Given the description of an element on the screen output the (x, y) to click on. 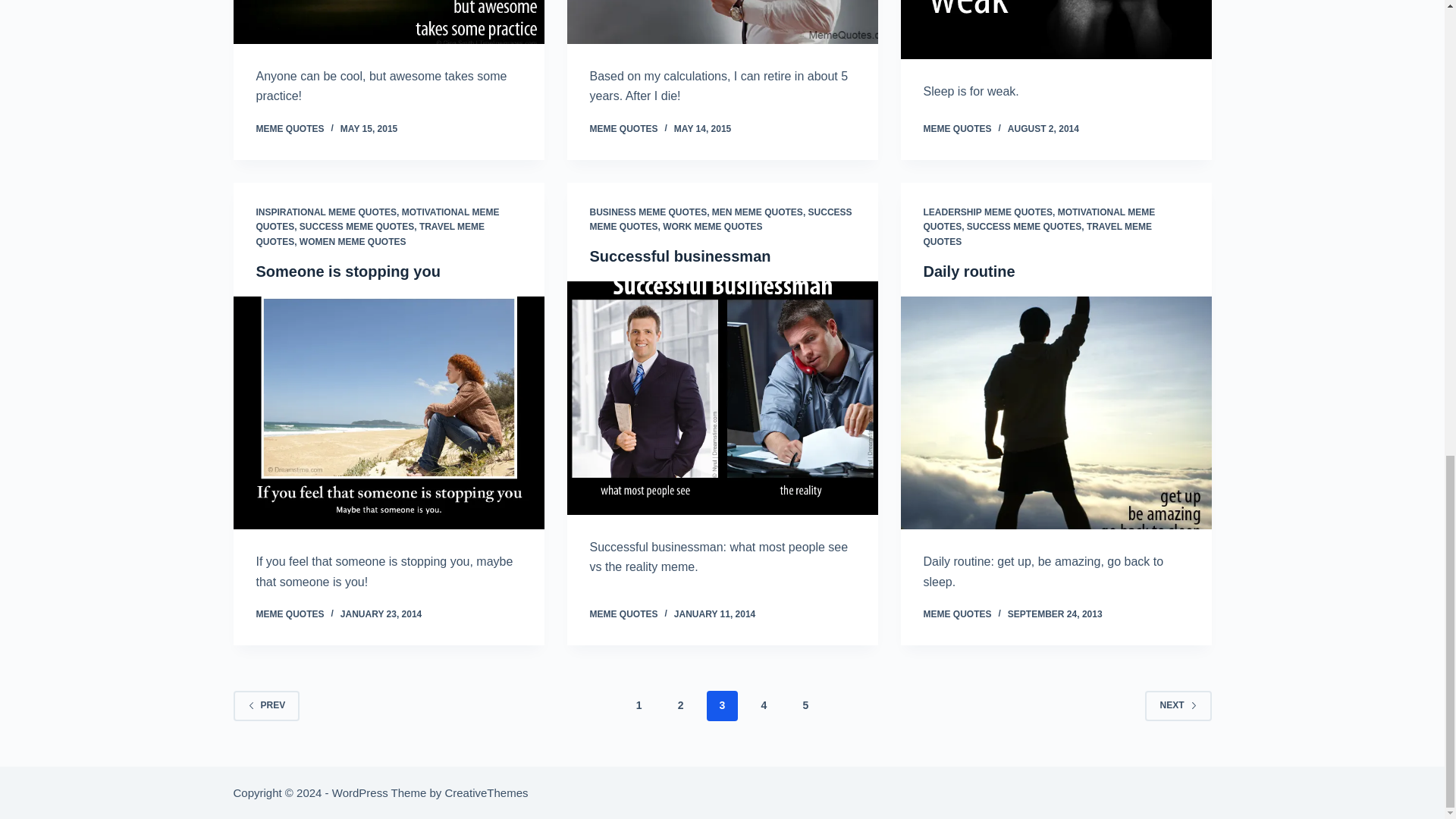
Posts by Meme Quotes (623, 614)
Posts by Meme Quotes (290, 128)
Posts by Meme Quotes (290, 614)
Posts by Meme Quotes (957, 128)
Posts by Meme Quotes (957, 614)
MEME QUOTES (290, 128)
Posts by Meme Quotes (623, 128)
